Given the description of an element on the screen output the (x, y) to click on. 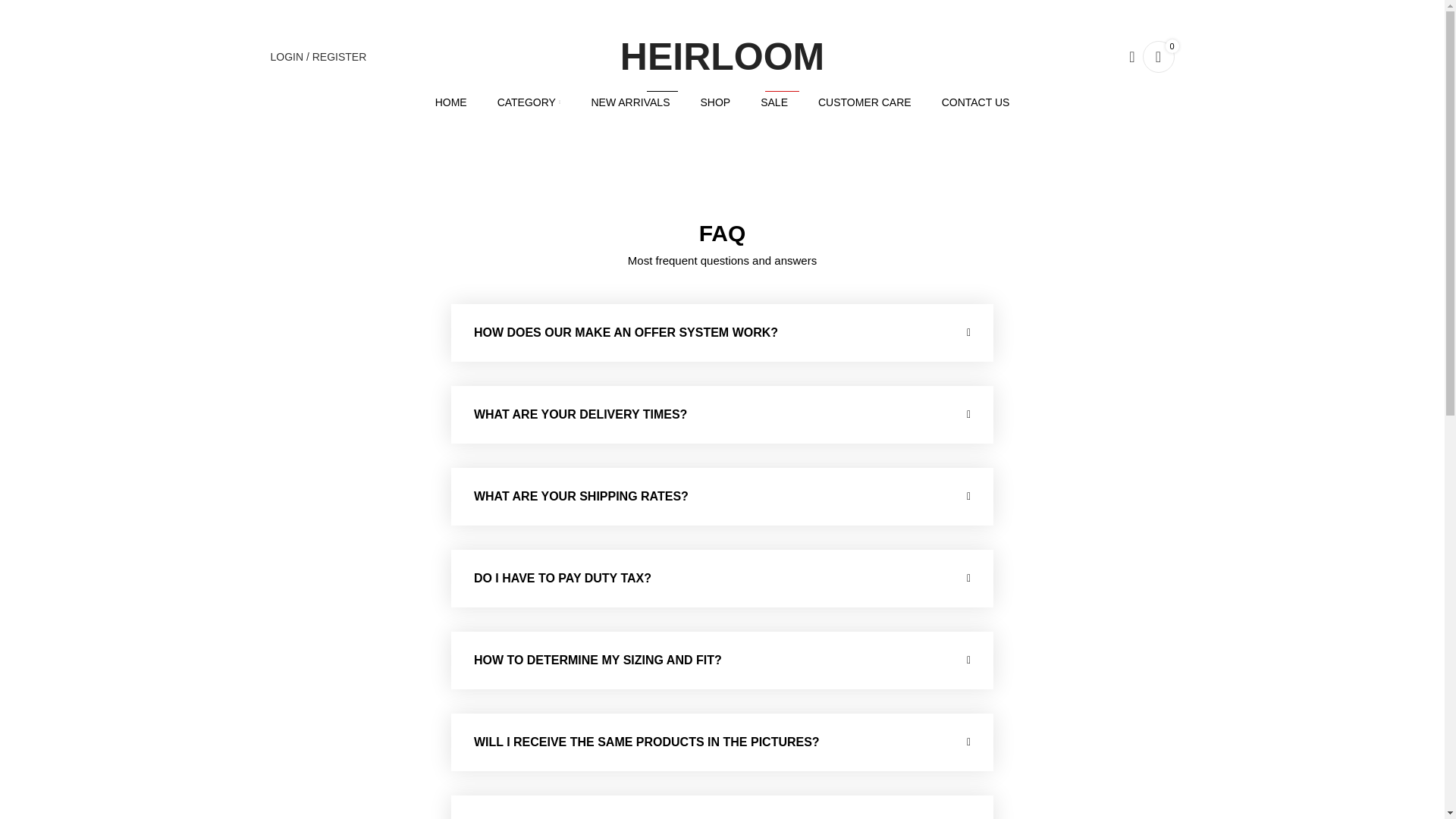
HOME (773, 101)
My account (451, 101)
Log in (318, 56)
SHOP (395, 297)
Shopping cart (715, 101)
CATEGORY (630, 101)
0 (1157, 56)
